Given the description of an element on the screen output the (x, y) to click on. 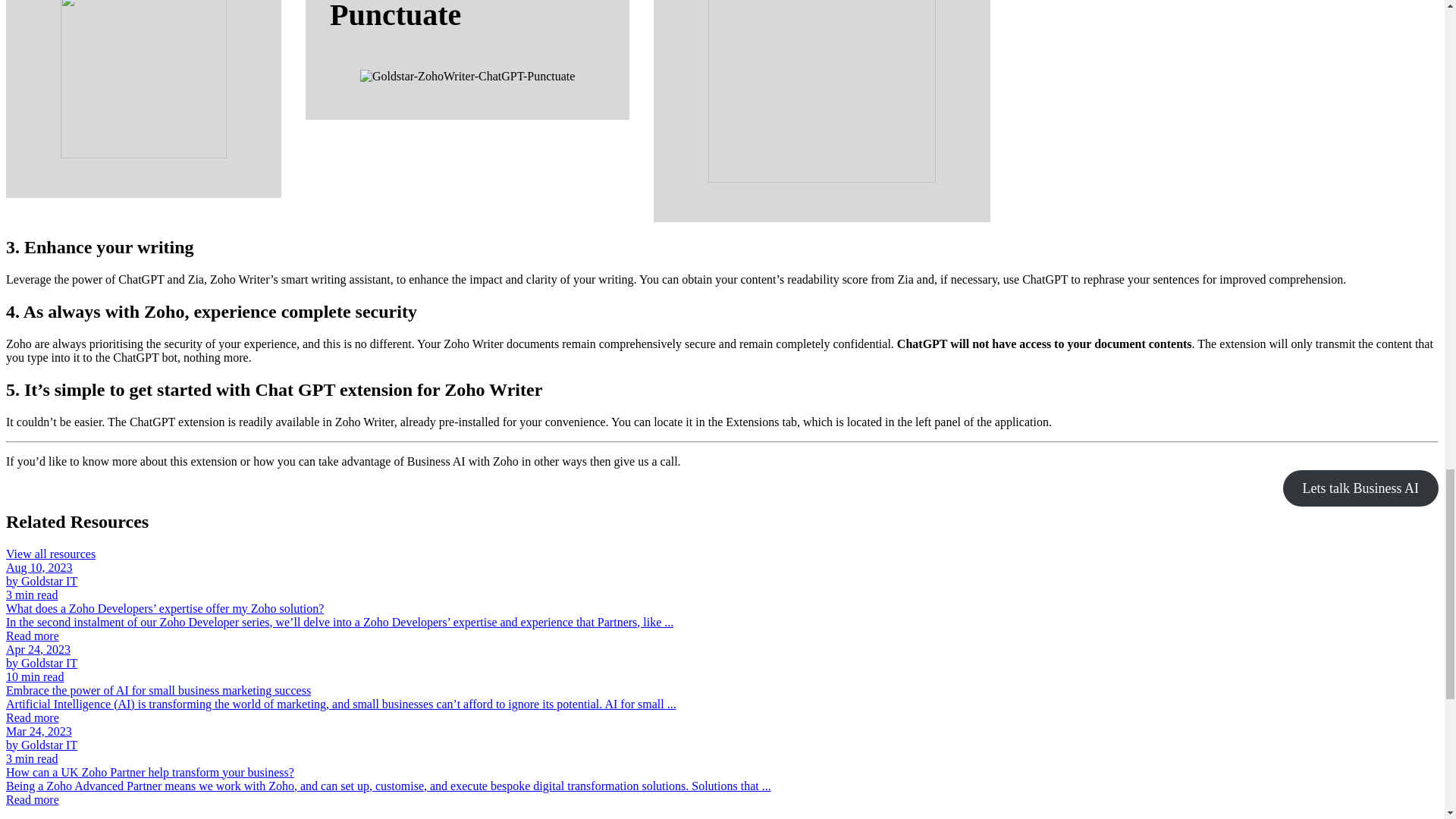
View all resources (50, 553)
